Given the description of an element on the screen output the (x, y) to click on. 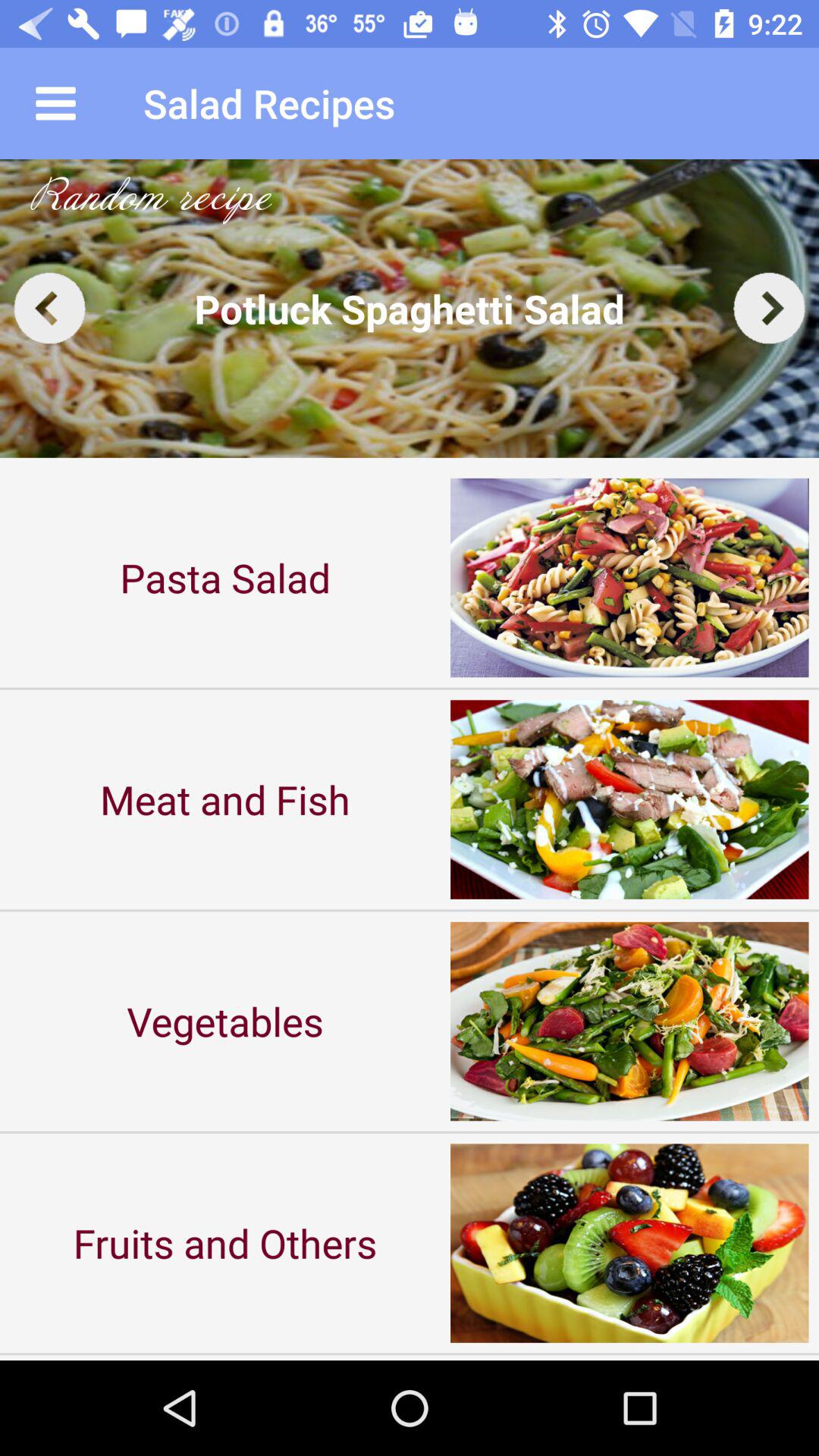
scroll until meat and fish item (225, 798)
